Given the description of an element on the screen output the (x, y) to click on. 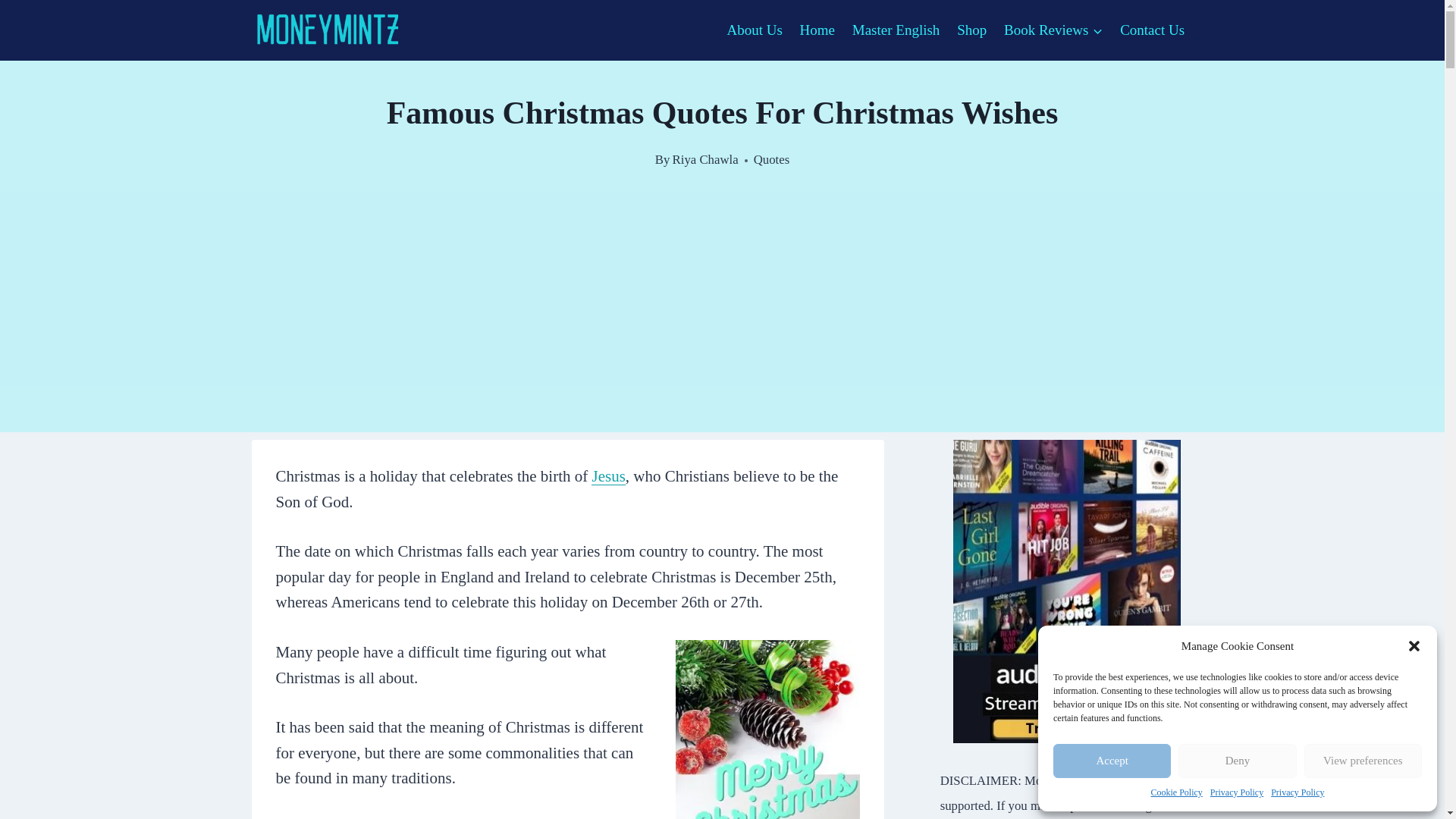
Book Reviews (1053, 29)
Shop (972, 29)
Riya Chawla (705, 159)
Famous Christmas Quotes For Christmas Wishes 1 (767, 729)
Contact Us (1152, 29)
Home (816, 29)
Master English (895, 29)
Jesus (607, 475)
Deny (1236, 760)
About Us (753, 29)
